Given the description of an element on the screen output the (x, y) to click on. 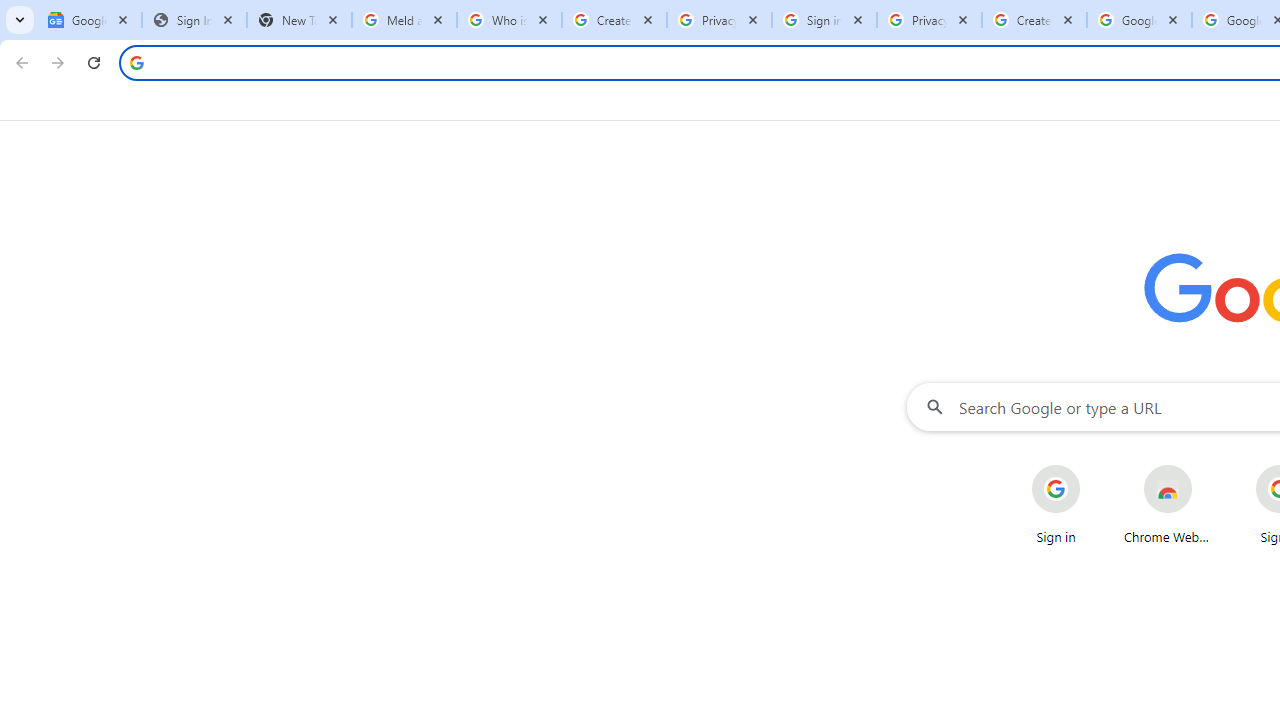
Chrome Web Store (1167, 504)
More actions for Chrome Web Store shortcut (1208, 466)
Who is my administrator? - Google Account Help (509, 20)
New Tab (299, 20)
